Given the description of an element on the screen output the (x, y) to click on. 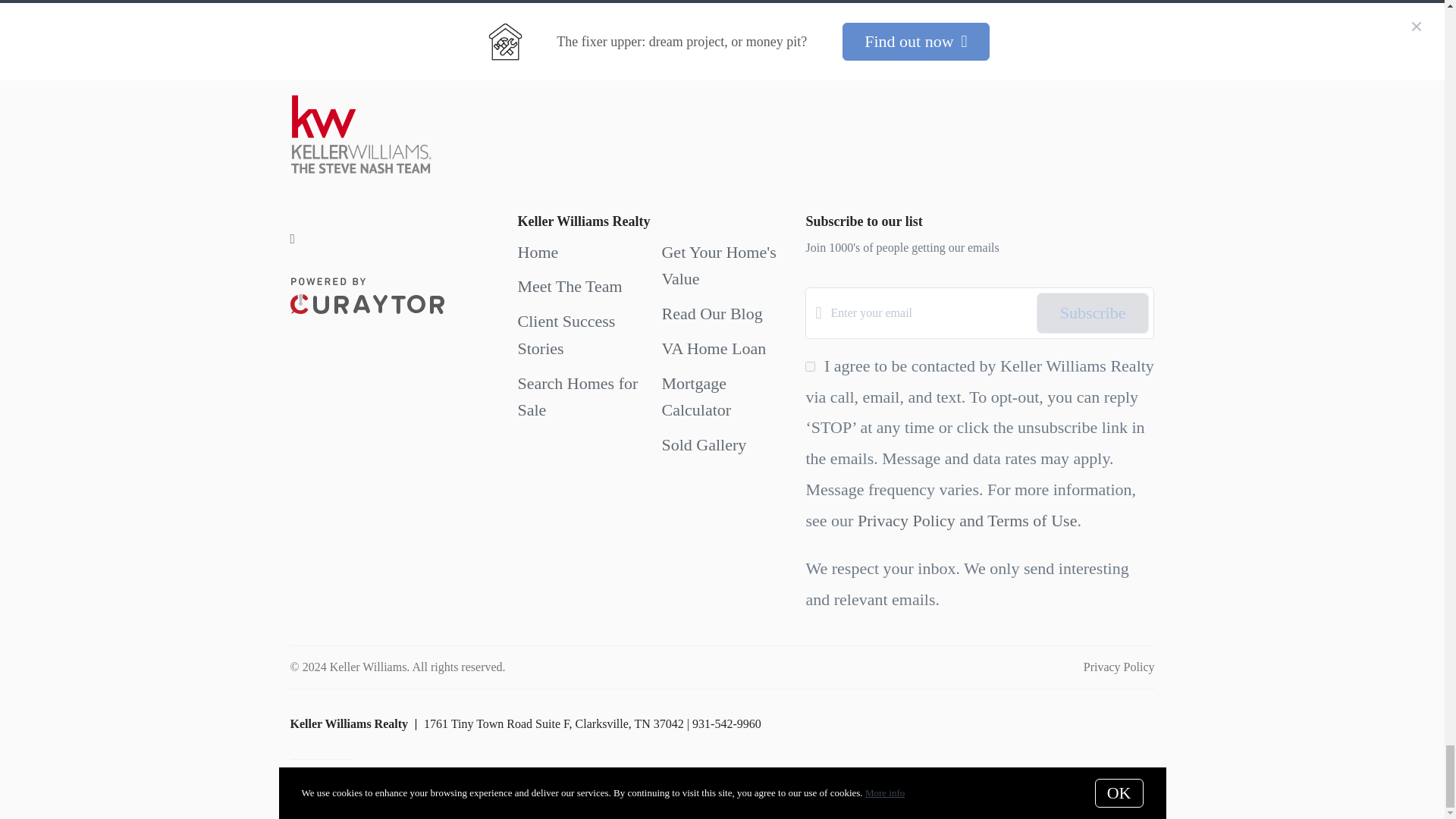
curaytor-horizontal (366, 295)
on (810, 366)
